Given the description of an element on the screen output the (x, y) to click on. 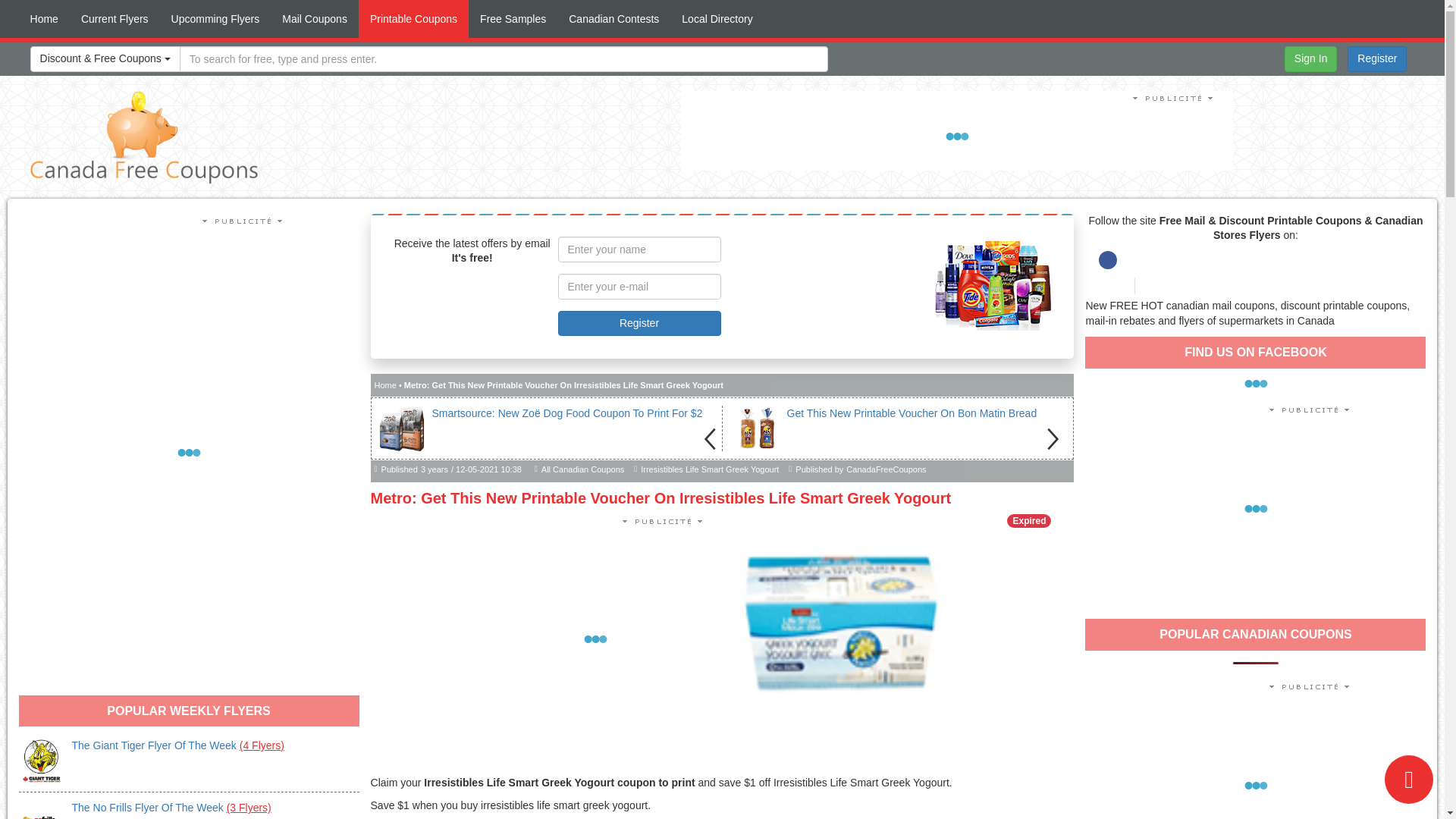
Register (1377, 58)
All Canadian Coupons (582, 469)
Irresistibles Life Smart Greek Yogourt (709, 469)
All Canadian Coupons (582, 469)
Canadian Contests (613, 18)
Free Samples (512, 18)
Printable Coupons (413, 18)
Local Directory (715, 18)
Sign In (1311, 58)
Register (638, 323)
